Given the description of an element on the screen output the (x, y) to click on. 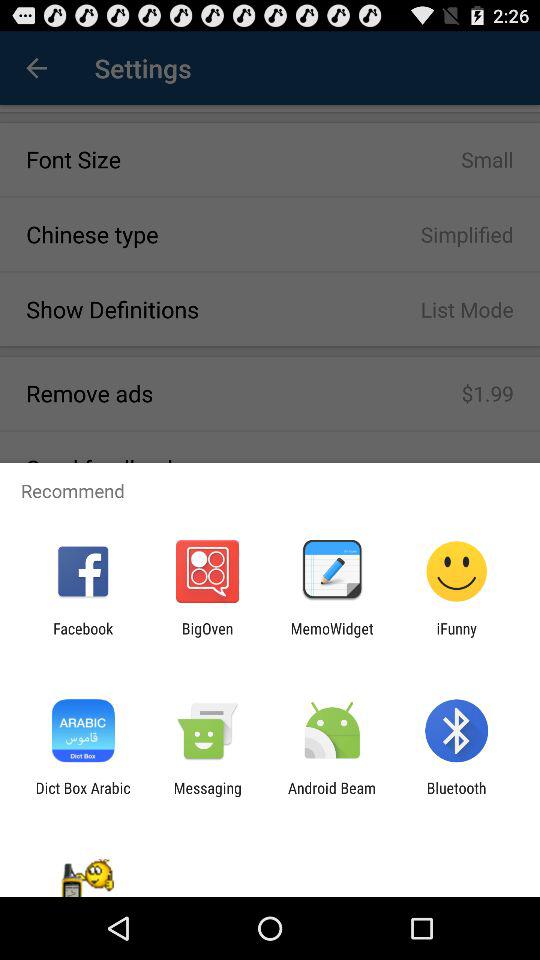
scroll to the bluetooth app (456, 796)
